Given the description of an element on the screen output the (x, y) to click on. 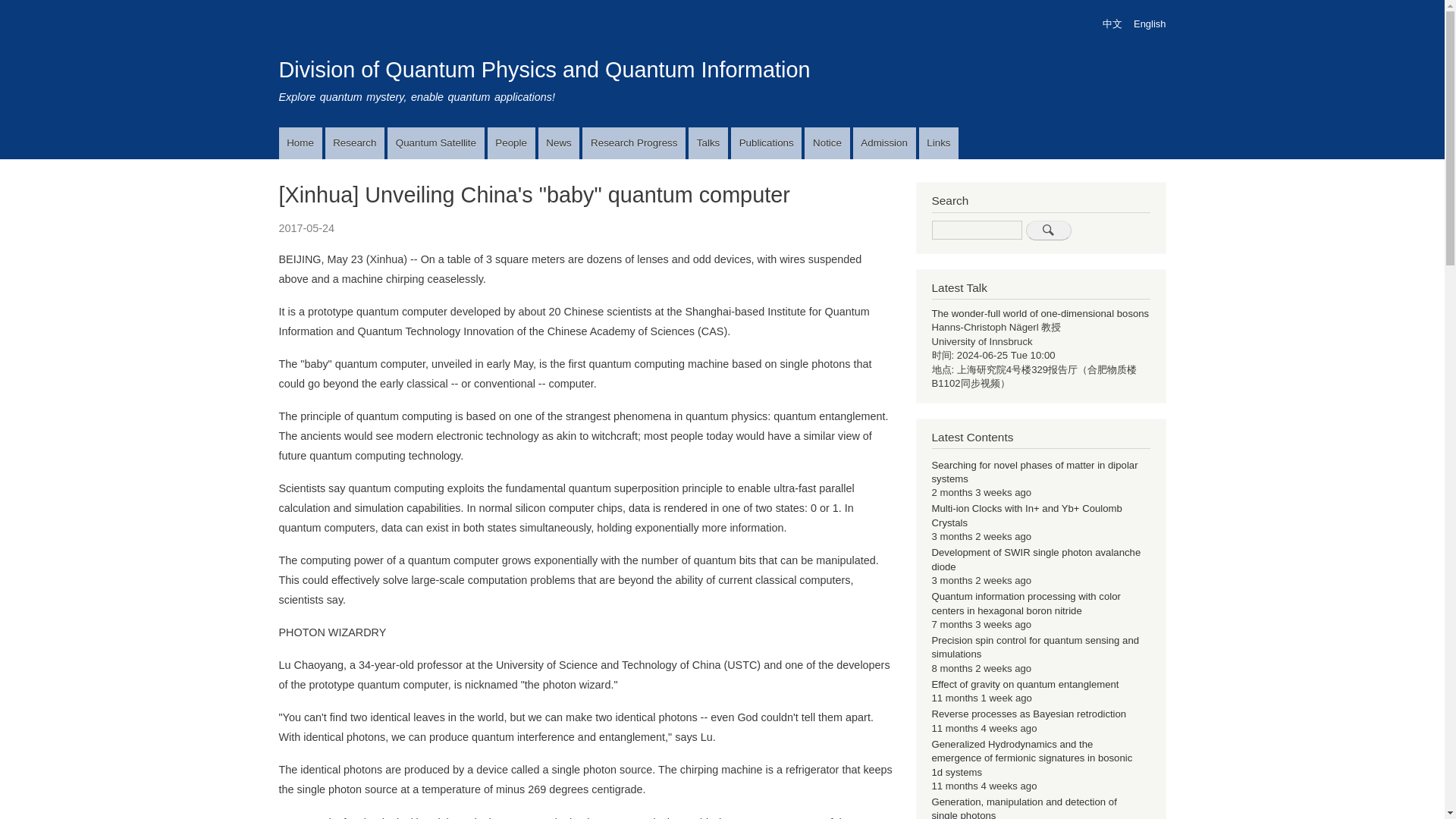
The wonder-full world of one-dimensional bosons (1039, 313)
Search (1047, 230)
Home (300, 143)
Search (1047, 230)
Generation, manipulation and detection of single photons (1023, 807)
Admission (884, 143)
Notice (826, 143)
Precision spin control for quantum sensing and simulations (1034, 647)
Talks (708, 143)
Research Progress (633, 143)
Development of SWIR single photon avalanche diode (1035, 559)
Home (544, 69)
Research (354, 143)
Searching for novel phases of matter in dipolar systems (1034, 471)
